Given the description of an element on the screen output the (x, y) to click on. 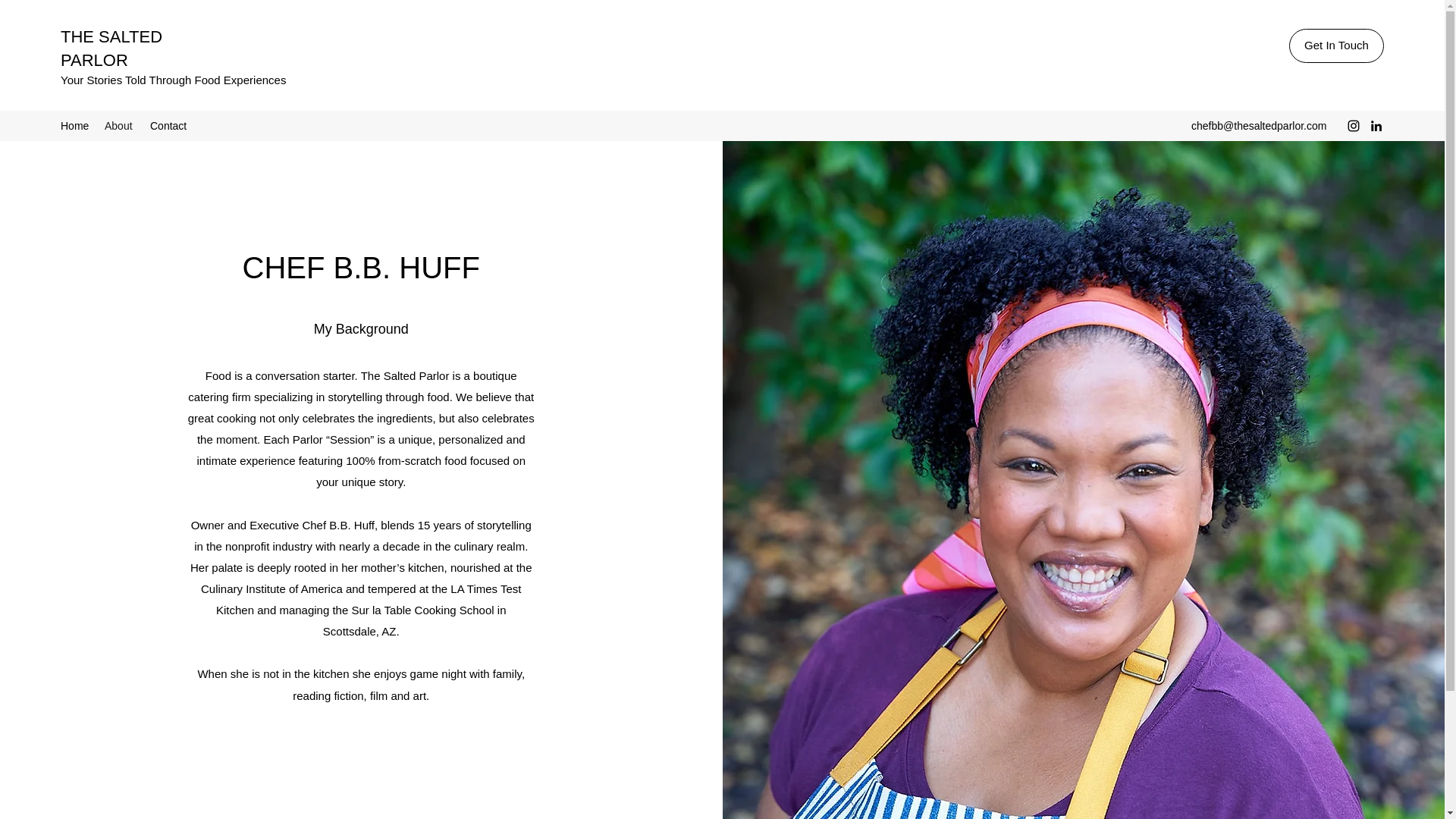
About (119, 125)
Home (74, 125)
Get In Touch (1336, 45)
Contact (168, 125)
THE SALTED PARLOR (111, 48)
